Given the description of an element on the screen output the (x, y) to click on. 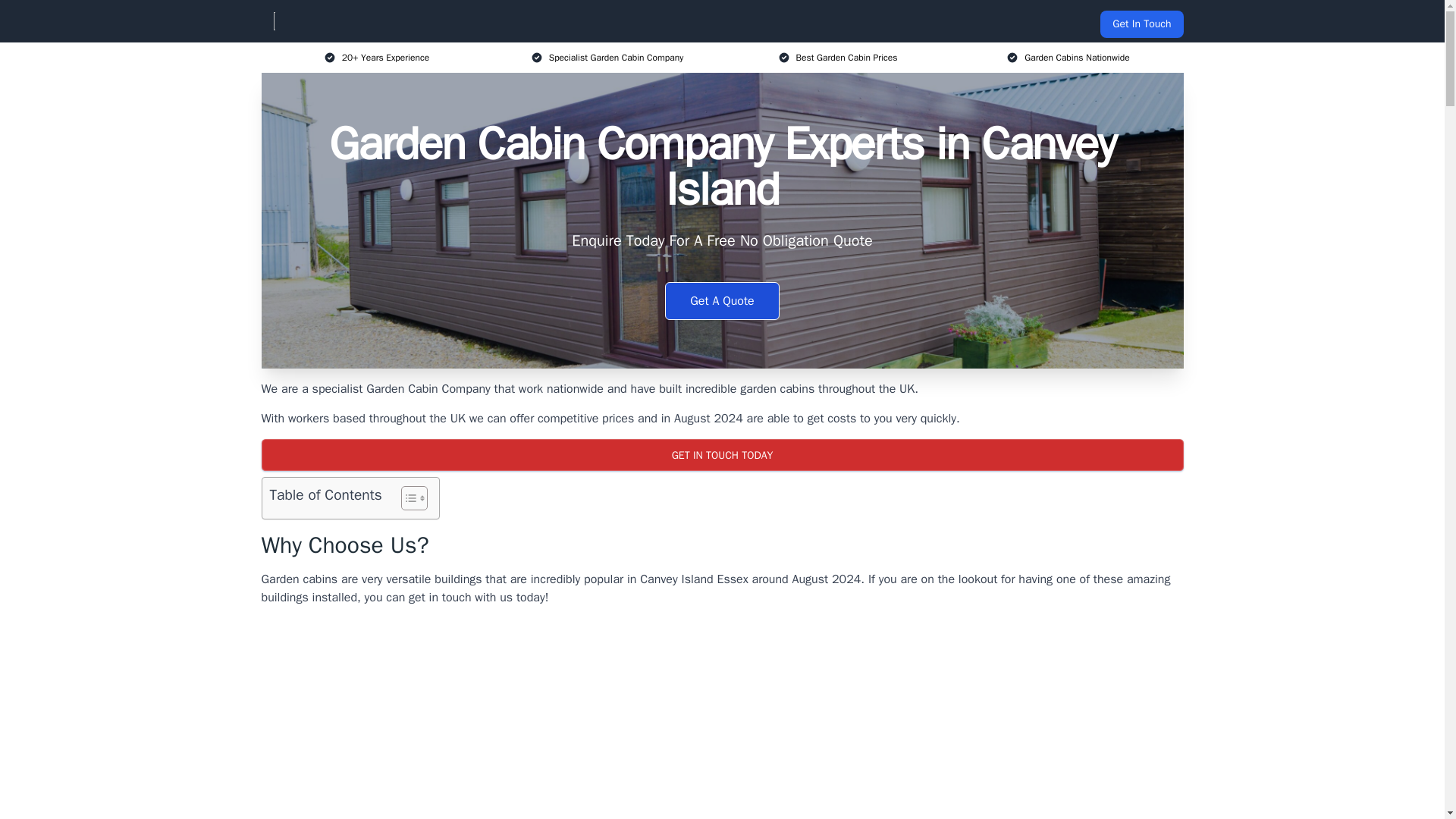
GET IN TOUCH TODAY (721, 454)
Get A Quote (721, 300)
Get In Touch (1141, 23)
